Given the description of an element on the screen output the (x, y) to click on. 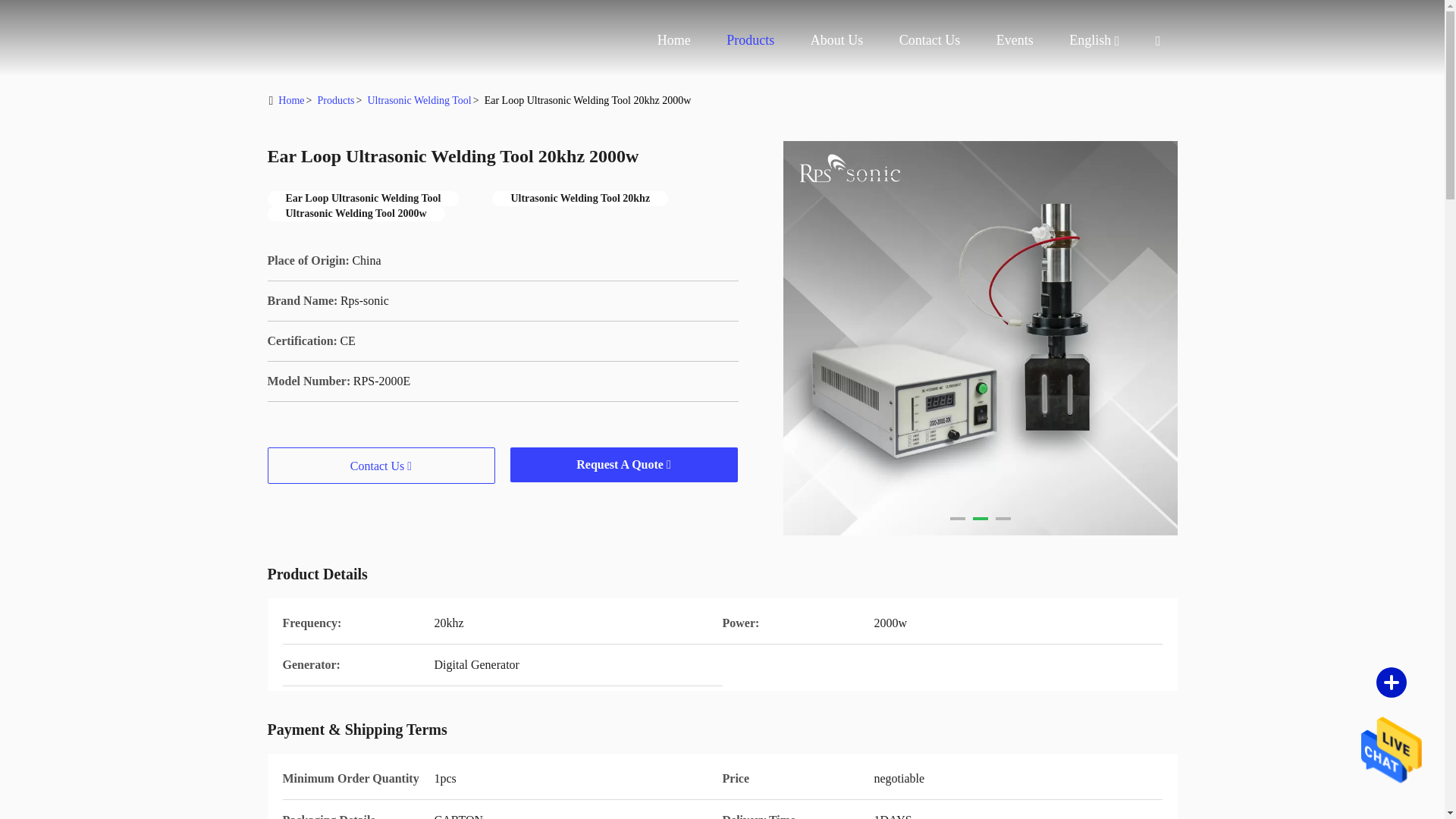
Products (750, 40)
Products (750, 40)
Contact Us (929, 40)
Contact Us (929, 40)
About Us (836, 40)
About Us (836, 40)
